Given the description of an element on the screen output the (x, y) to click on. 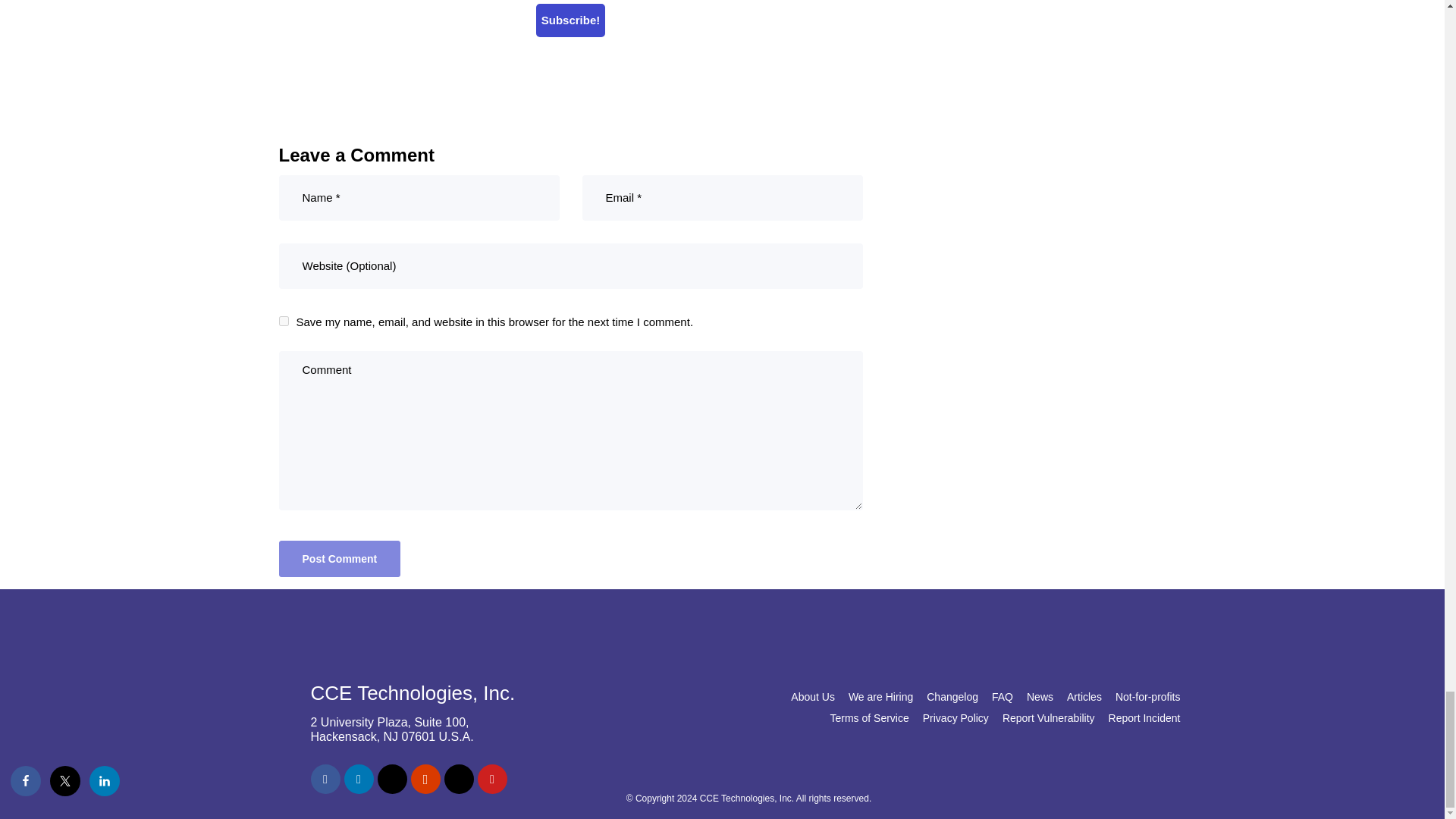
Post Comment (340, 558)
yes (283, 320)
Subscribe! (570, 20)
